Given the description of an element on the screen output the (x, y) to click on. 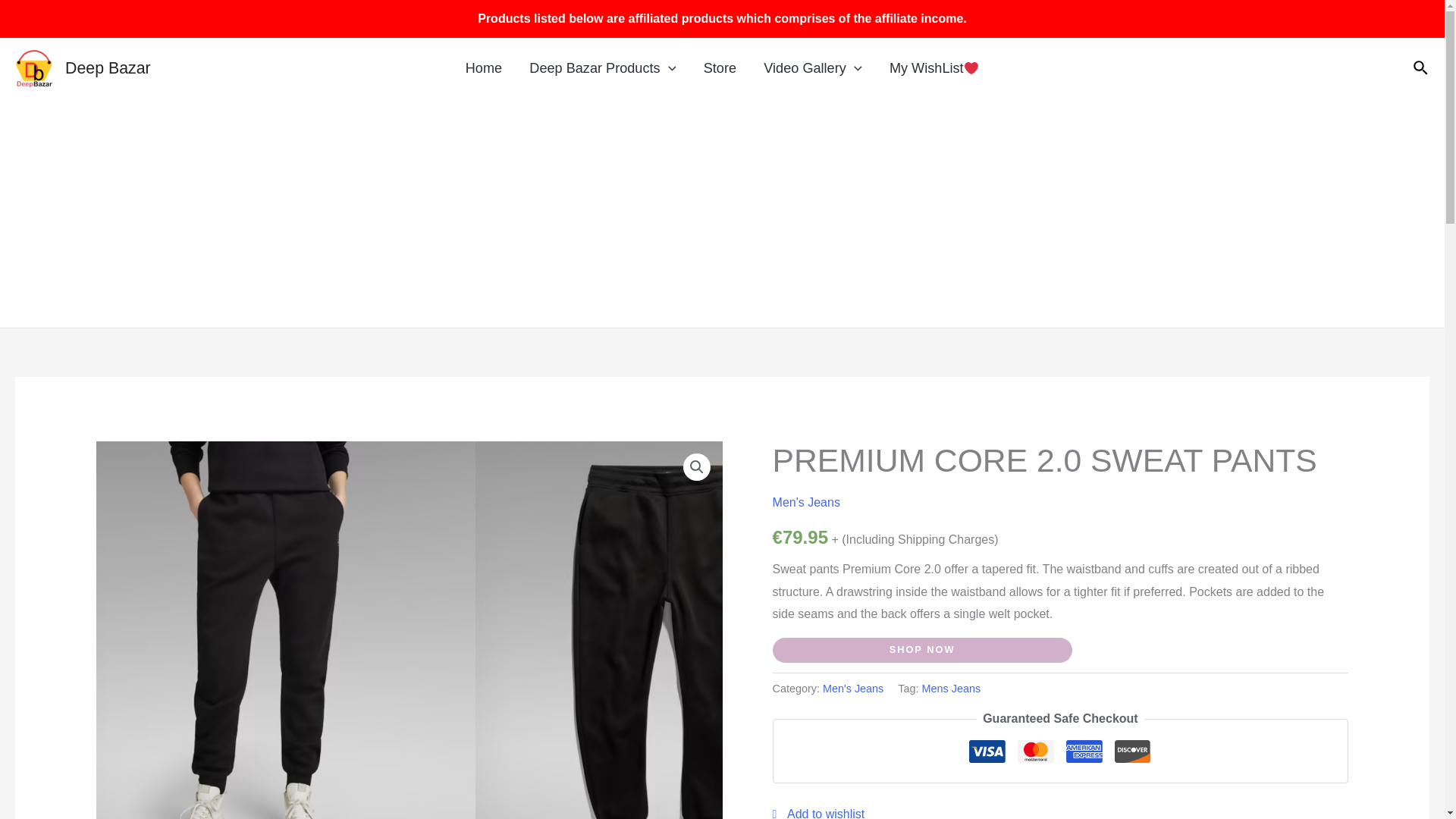
Store (720, 68)
Deep Bazar (108, 67)
Video Gallery (812, 68)
My WishList (934, 68)
Deep Bazar Products (601, 68)
Men's Jeans (852, 688)
Men's Jeans (806, 502)
SHOP NOW (922, 650)
Home (483, 68)
